Given the description of an element on the screen output the (x, y) to click on. 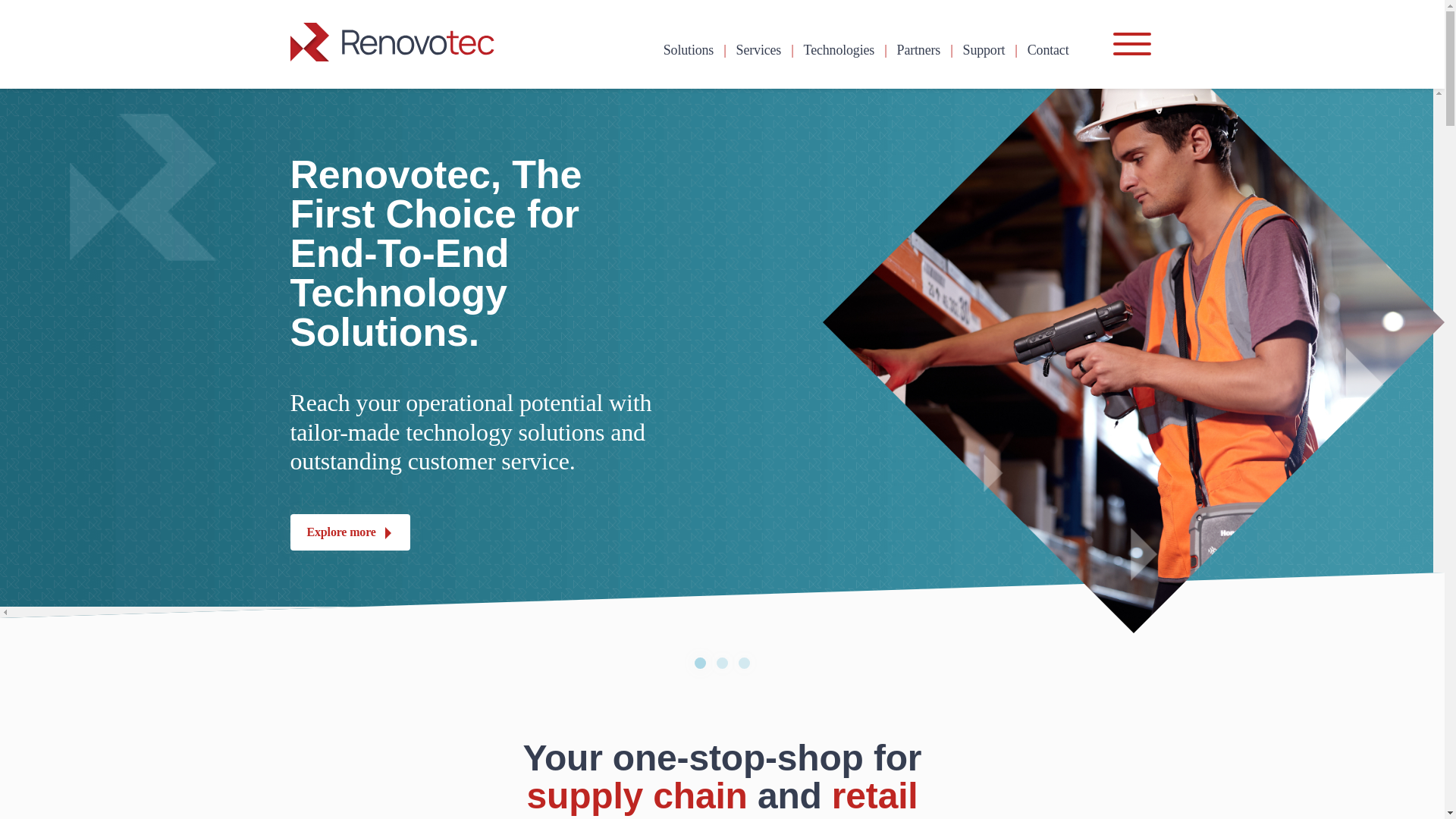
Technologies (839, 49)
Services (758, 49)
Support (984, 49)
Contact (1047, 49)
Partners (918, 49)
Solutions (688, 49)
